Given the description of an element on the screen output the (x, y) to click on. 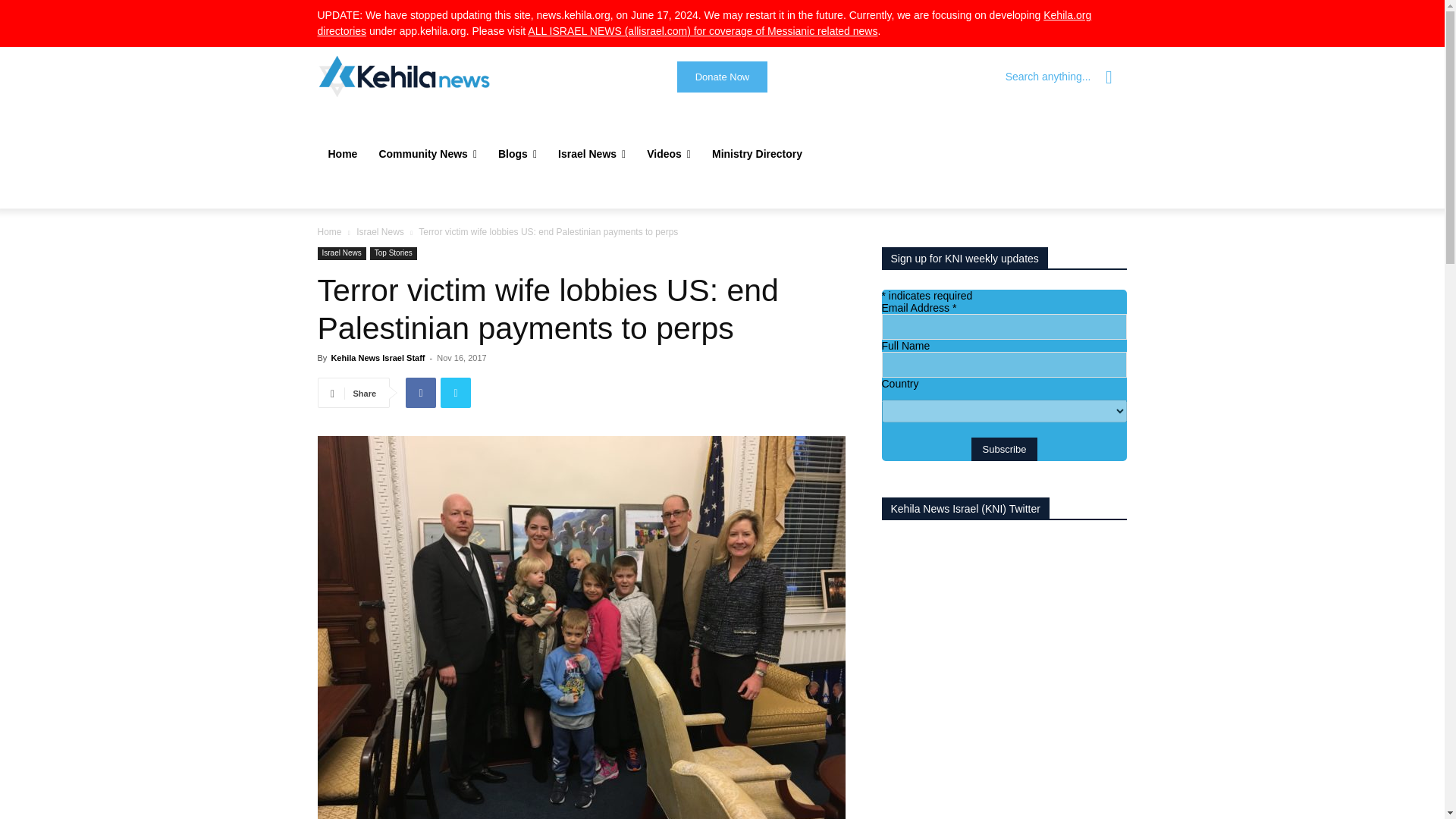
Kehila.org directories (703, 22)
Donate Now (722, 76)
Subscribe (1004, 449)
